Given the description of an element on the screen output the (x, y) to click on. 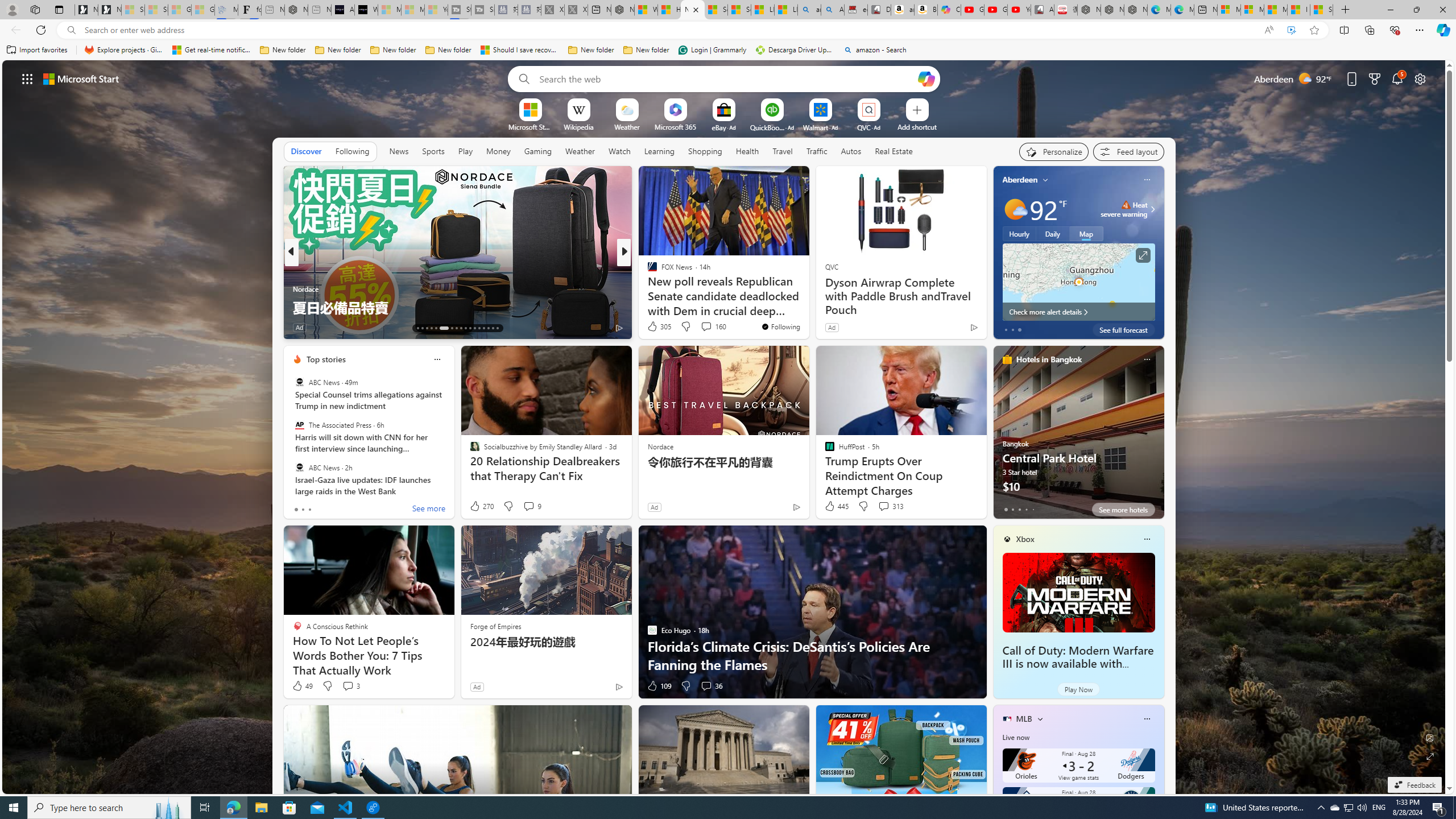
Add a site (916, 126)
20 Like (652, 327)
amazon - Search (875, 49)
Top stories (325, 359)
157 Like (654, 327)
View comments 1k Comment (703, 327)
Feedback (1414, 784)
What's the best AI voice generator? - voice.ai (365, 9)
amazon.in/dp/B0CX59H5W7/?tag=gsmcom05-21 (902, 9)
Sports (432, 151)
Huge shark washes ashore at New York City beach | Watch (668, 9)
Shopping (705, 151)
